Given the description of an element on the screen output the (x, y) to click on. 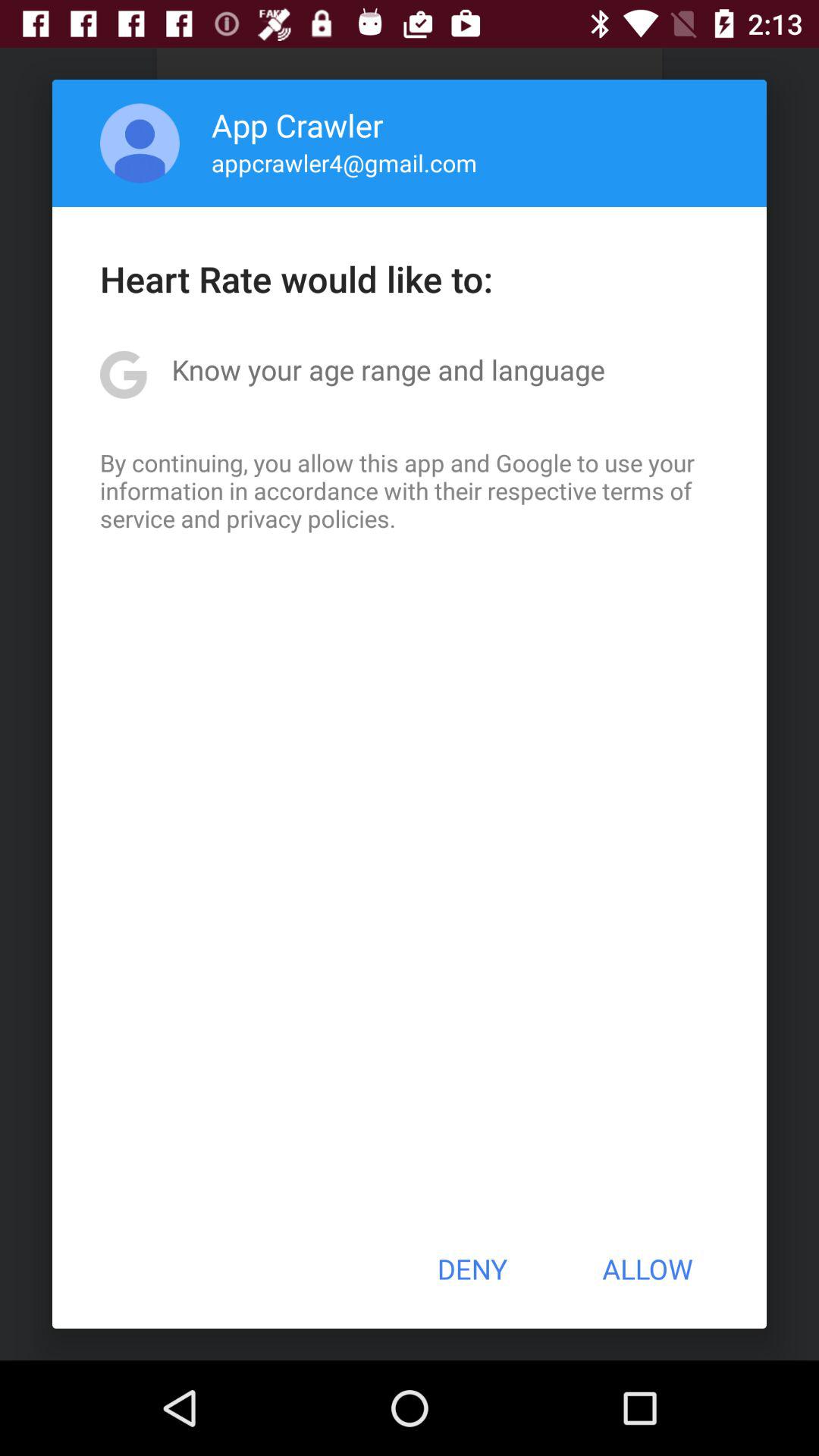
press app next to app crawler (139, 143)
